Given the description of an element on the screen output the (x, y) to click on. 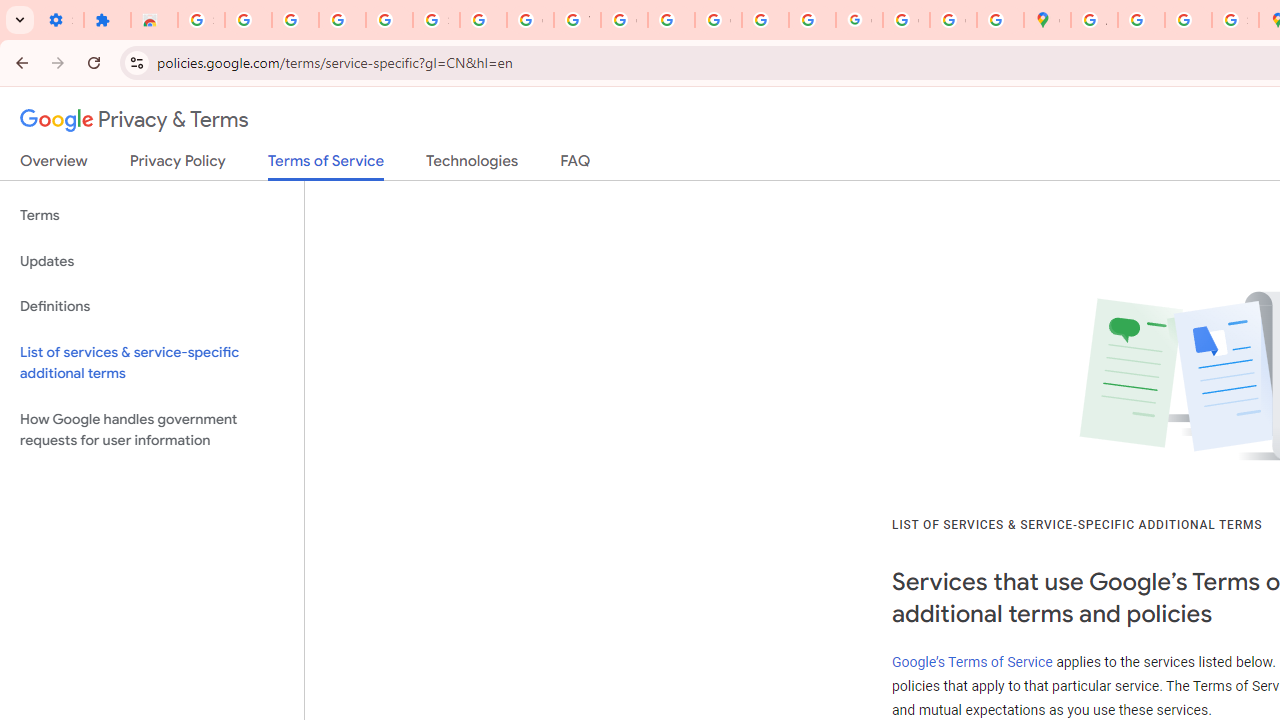
Delete photos & videos - Computer - Google Photos Help (294, 20)
